Given the description of an element on the screen output the (x, y) to click on. 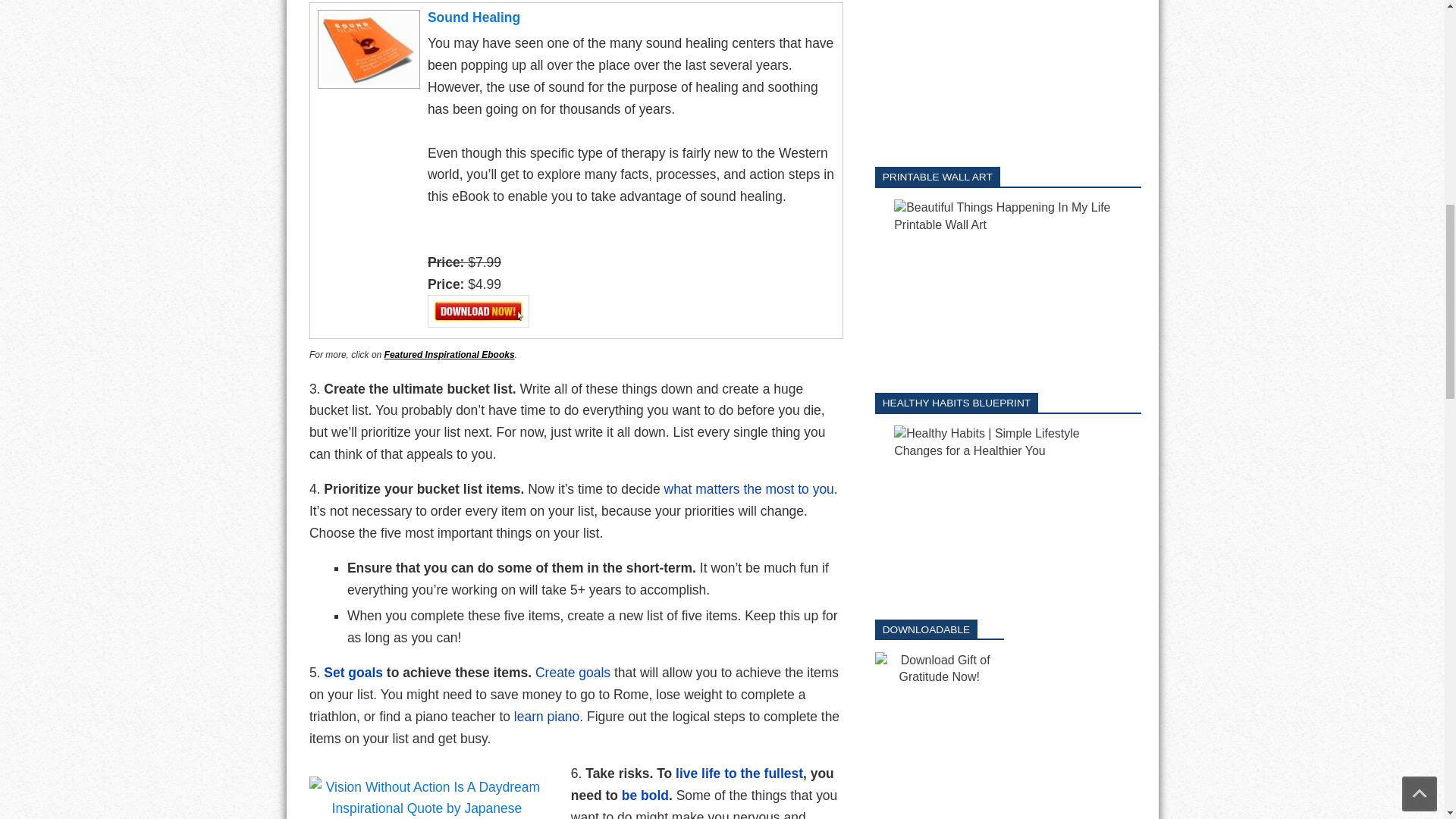
Sound Healing Ebook (546, 716)
Breakthrough You Ebook (352, 672)
Sound Healing (367, 17)
Featured Inspirational Ebooks (449, 354)
Discover Your Life Purpose Ebook (572, 672)
Creating A Most Wonderful Life Ebook (748, 488)
